Given the description of an element on the screen output the (x, y) to click on. 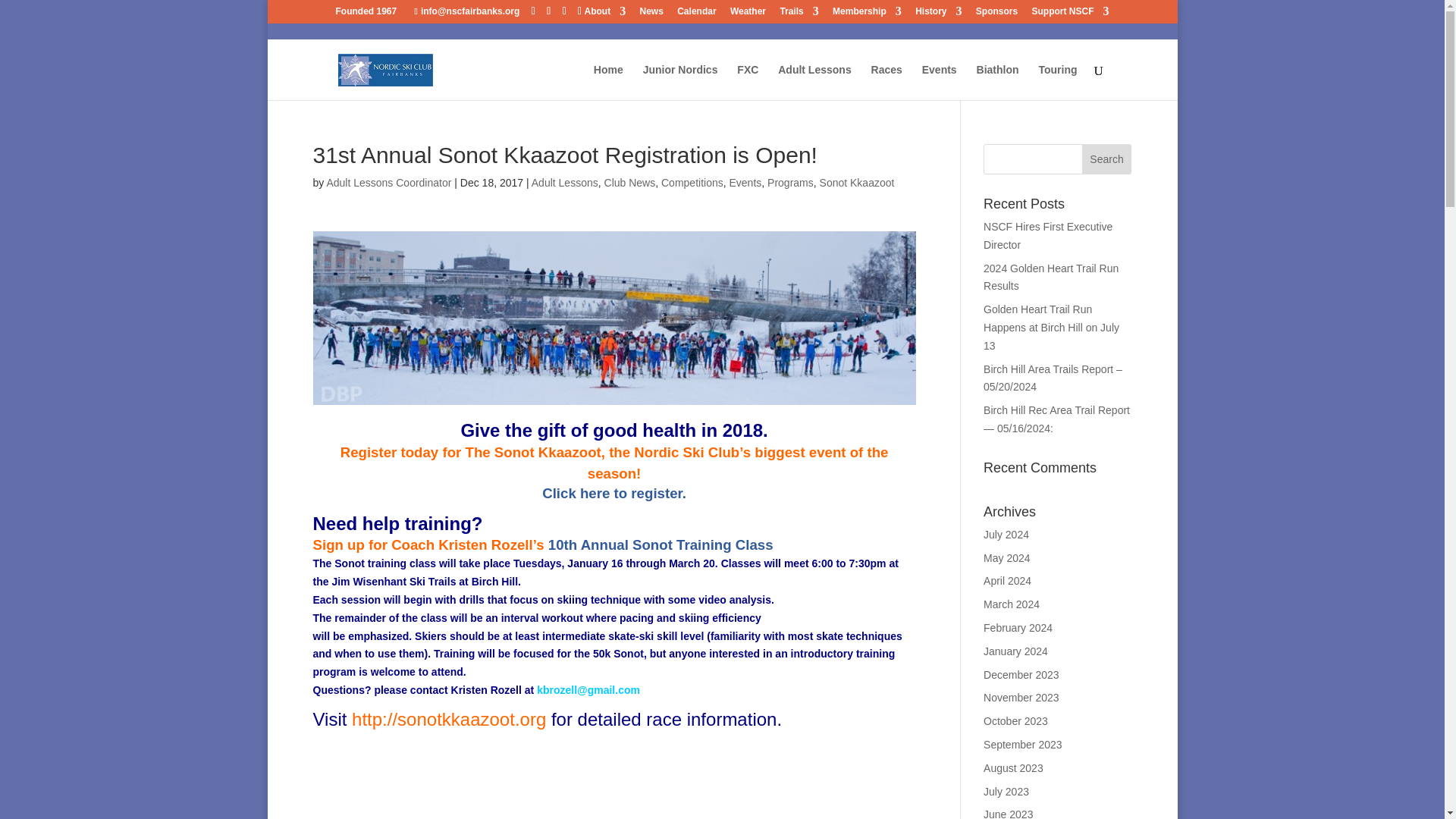
Adult Lessons (813, 81)
About (604, 14)
Weather (747, 14)
Junior Nordics (680, 81)
Membership (866, 14)
Search (1106, 159)
History (937, 14)
News (651, 14)
Posts by Adult Lessons Coordinator (388, 182)
Sponsors (996, 14)
Calendar (696, 14)
Trails (798, 14)
Support NSCF (1069, 14)
